Given the description of an element on the screen output the (x, y) to click on. 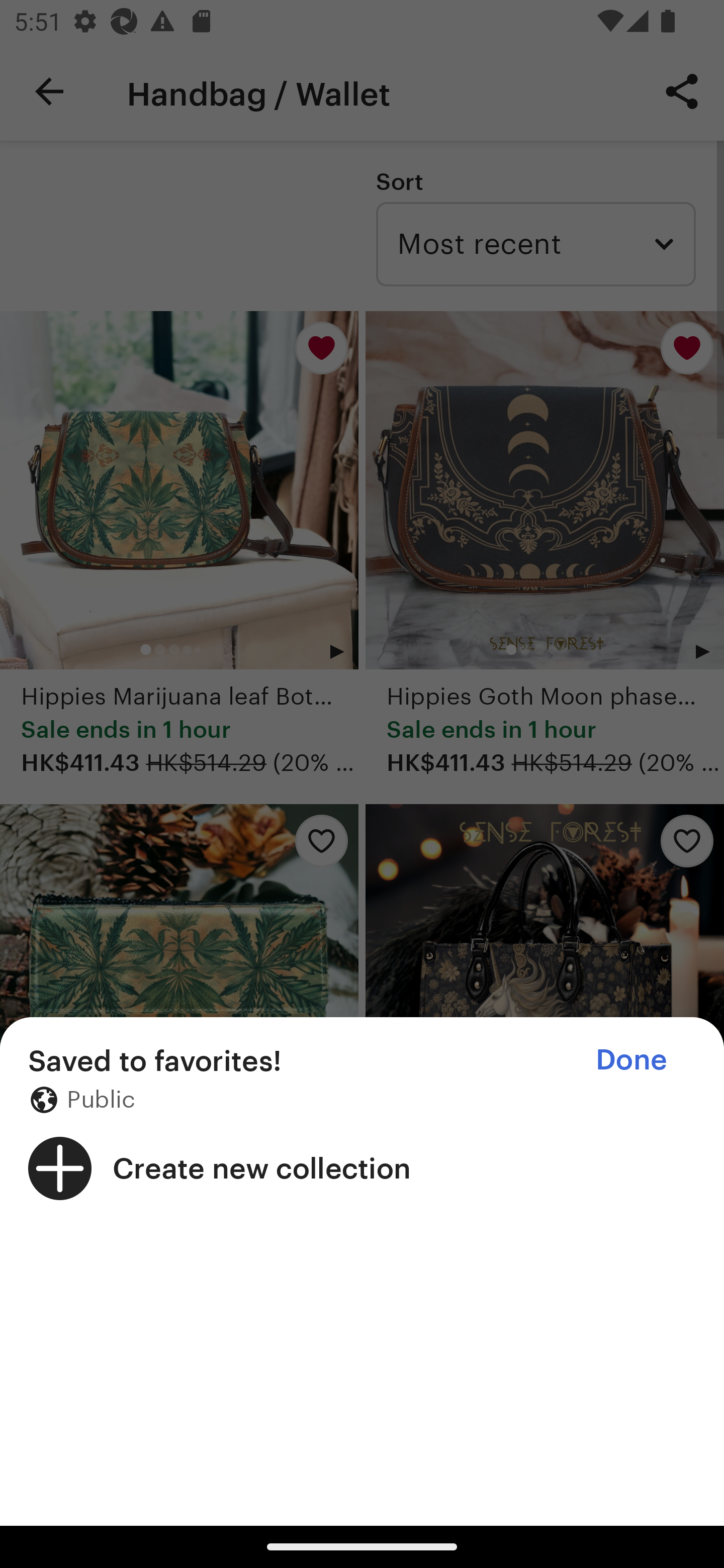
Done (630, 1059)
Create new collection (361, 1167)
